Given the description of an element on the screen output the (x, y) to click on. 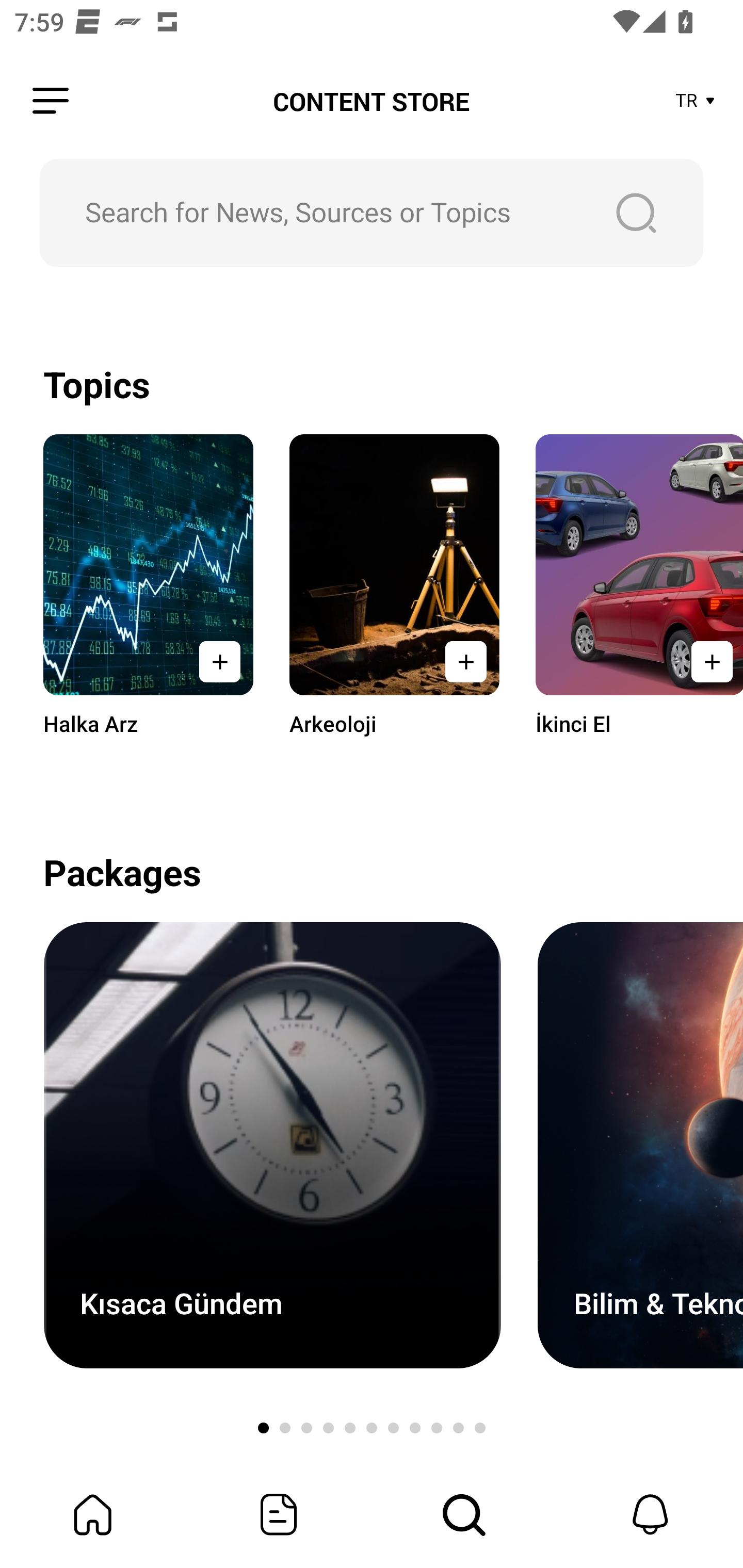
Leading Icon (50, 101)
TR Store Area (695, 101)
Search for News, Sources or Topics Search Button (371, 212)
Add To My Bundle (219, 661)
Add To My Bundle (465, 661)
Add To My Bundle (705, 661)
Content Store Discover Card Image Kısaca Gündem (271, 1144)
My Bundle (92, 1514)
Featured (278, 1514)
Notifications (650, 1514)
